Given the description of an element on the screen output the (x, y) to click on. 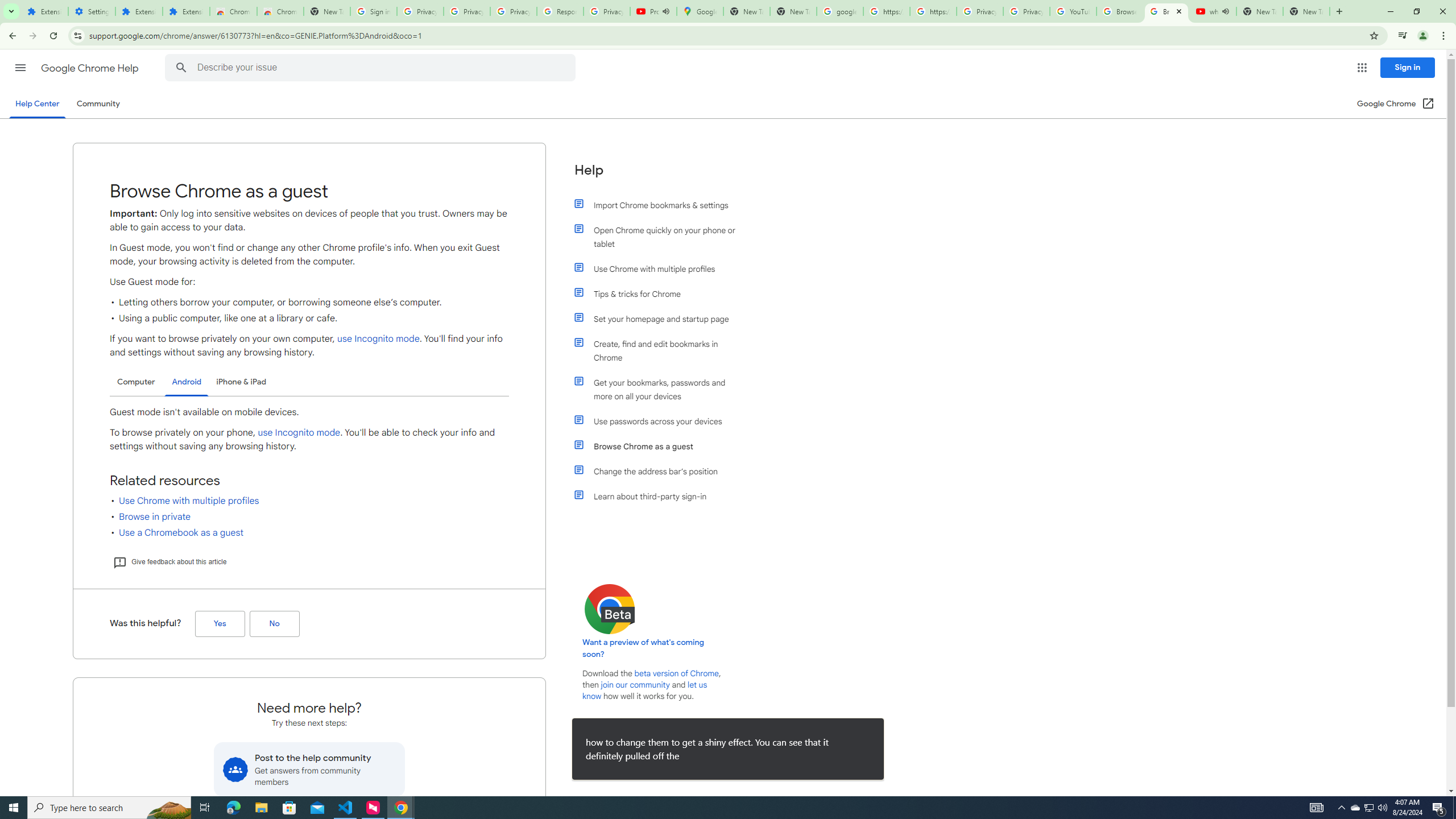
Google Chrome (Open in a new window) (1395, 103)
No (Was this helpful?) (273, 623)
Describe your issue (371, 67)
Extensions (138, 11)
New Tab (1306, 11)
https://scholar.google.com/ (886, 11)
Open Chrome quickly on your phone or tablet (661, 236)
Extensions (186, 11)
